Given the description of an element on the screen output the (x, y) to click on. 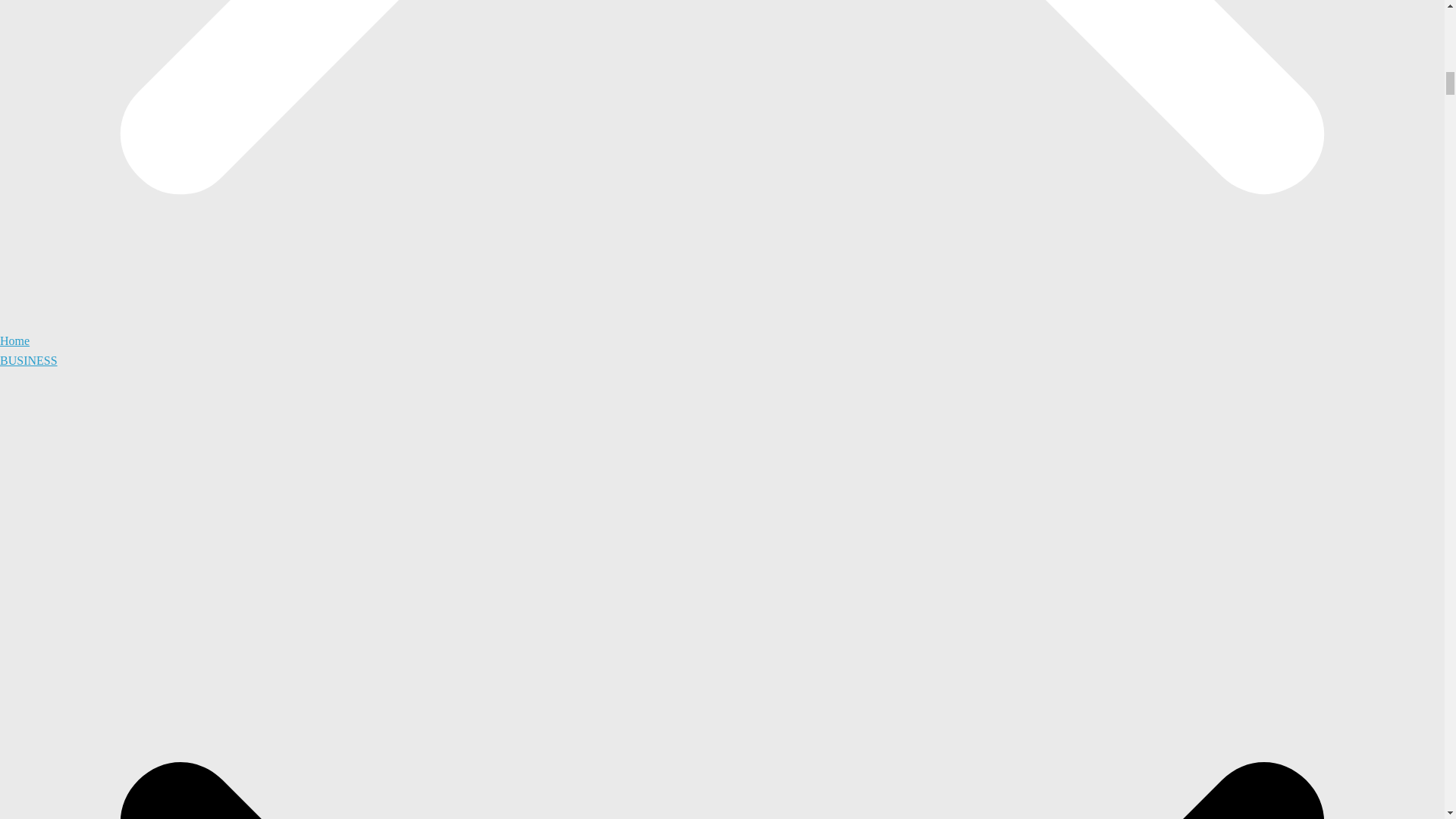
Home (14, 340)
BUSINESS (29, 359)
